Given the description of an element on the screen output the (x, y) to click on. 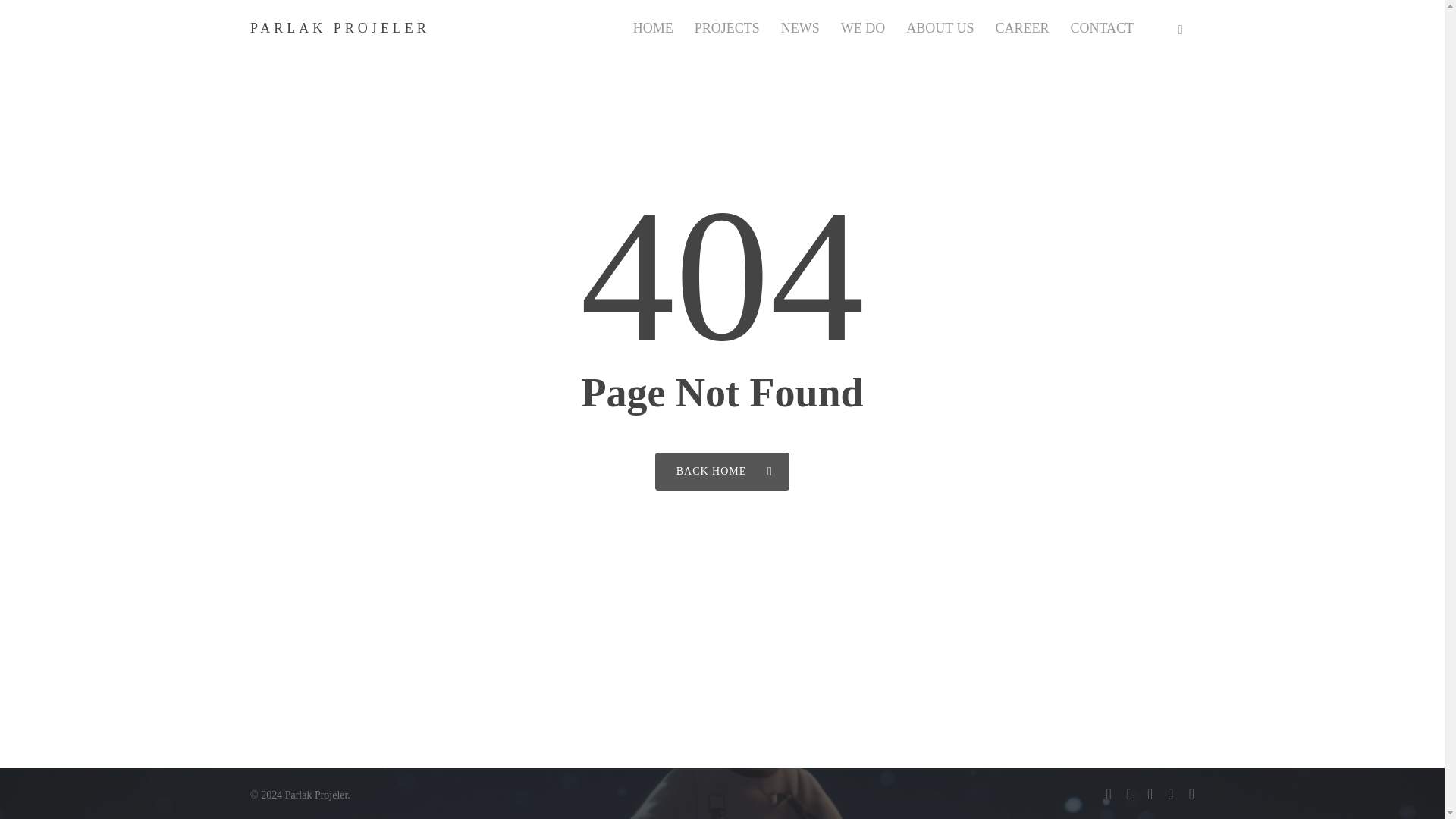
PROJECTS (727, 28)
INSTAGRAM (1180, 27)
ABOUT US (939, 28)
CAREER (1021, 28)
HOME (652, 28)
CONTACT (1102, 28)
BACK HOME (722, 470)
PARLAK PROJELER (339, 28)
WE DO (863, 28)
NEWS (799, 28)
